Given the description of an element on the screen output the (x, y) to click on. 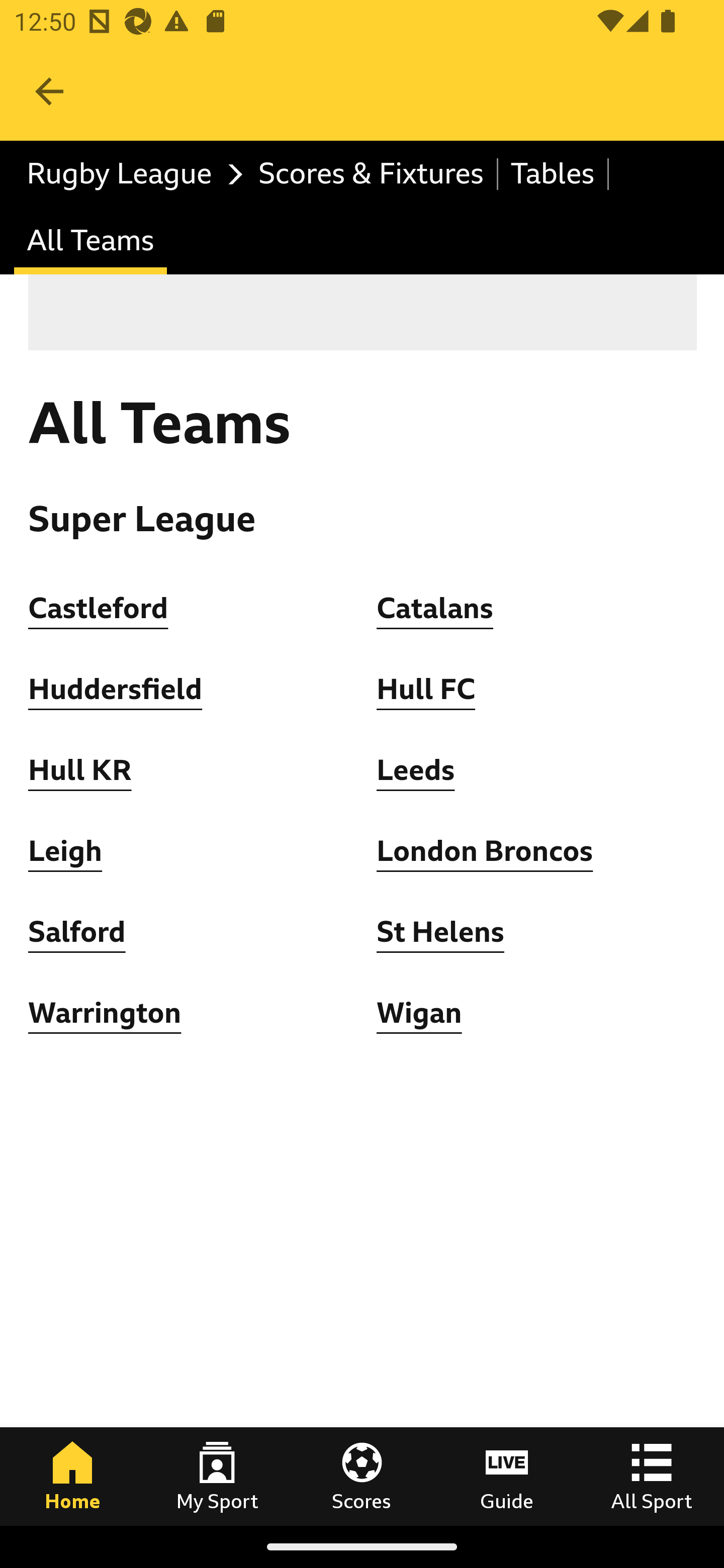
Navigate up (49, 91)
Rugby League (129, 173)
Scores & Fixtures (371, 173)
Tables (552, 173)
All Teams (90, 240)
Castleford (98, 608)
Catalans (435, 608)
Huddersfield (116, 689)
Hull FC (426, 689)
Hull KR (79, 770)
Leeds (415, 770)
Leigh (65, 851)
London Broncos (485, 851)
Salford (77, 932)
St Helens (440, 932)
Warrington (105, 1012)
Wigan (419, 1012)
My Sport (216, 1475)
Scores (361, 1475)
Guide (506, 1475)
All Sport (651, 1475)
